Given the description of an element on the screen output the (x, y) to click on. 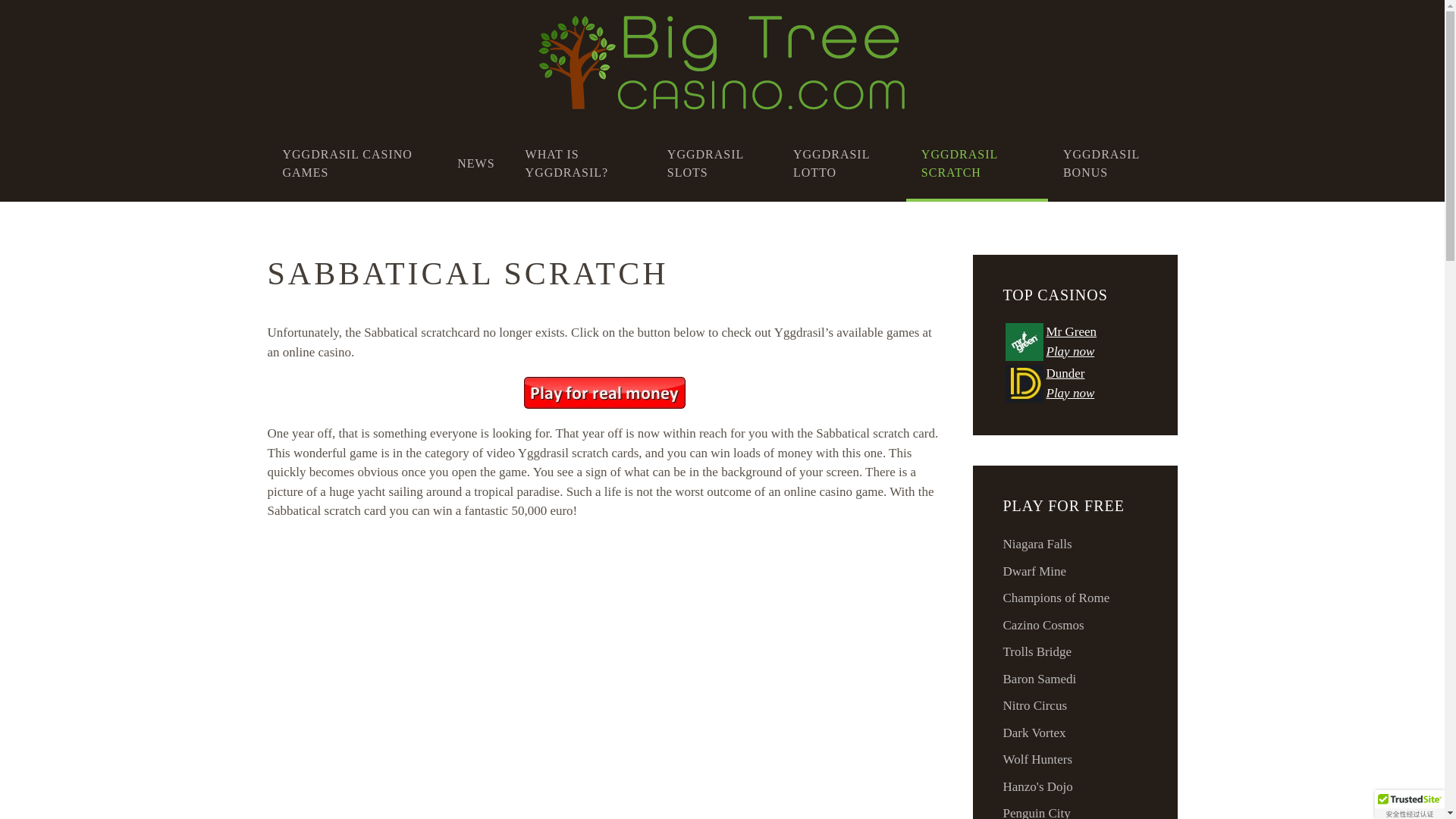
YGGDRASIL LOTTO (841, 163)
YGGDRASIL BONUS (1112, 163)
NEWS (475, 163)
YGGDRASIL SCRATCH (976, 163)
YGGDRASIL CASINO GAMES (354, 163)
YGGDRASIL SLOTS (714, 163)
WHAT IS YGGDRASIL? (581, 163)
